Given the description of an element on the screen output the (x, y) to click on. 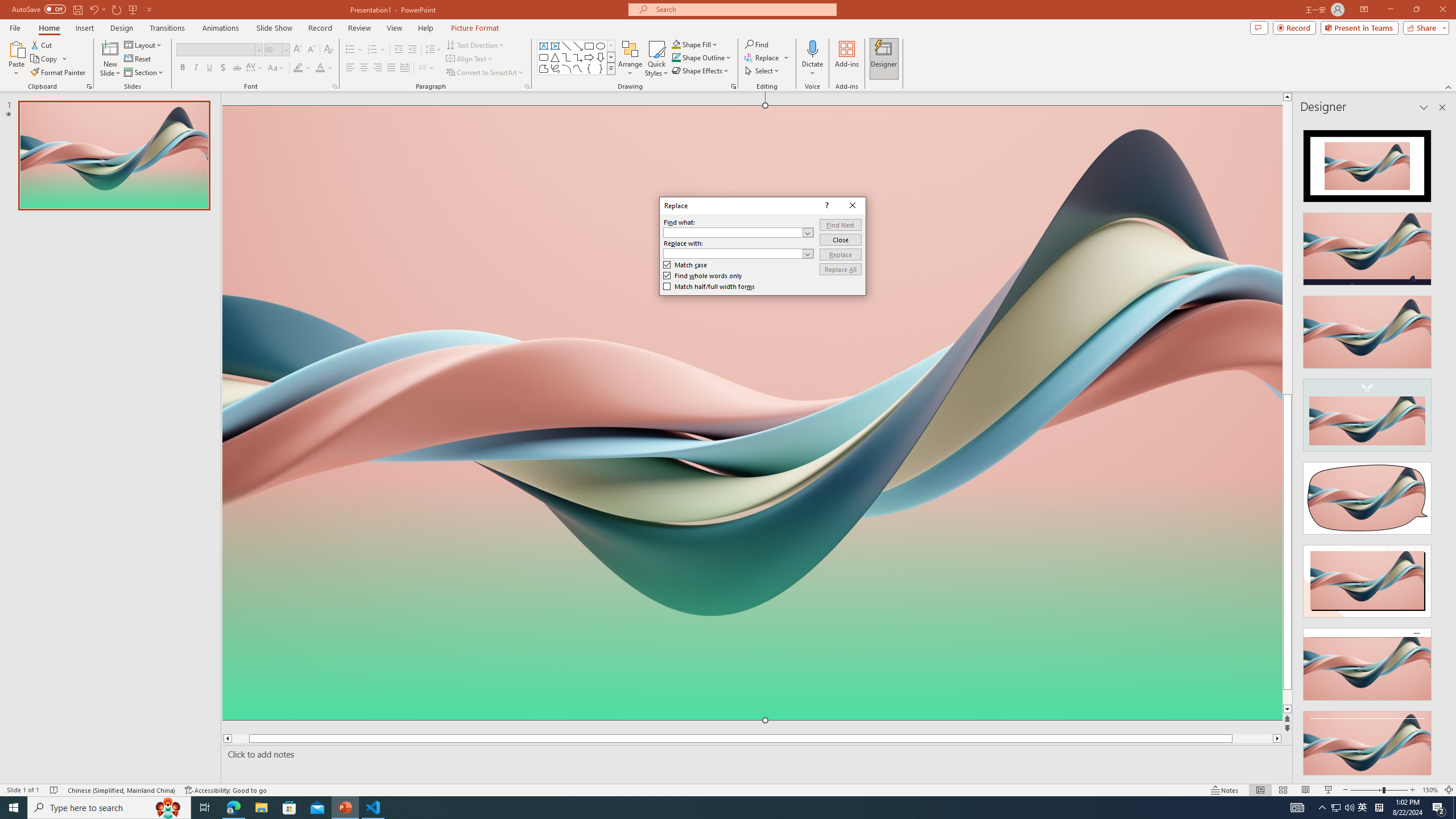
Replace (839, 254)
